Given the description of an element on the screen output the (x, y) to click on. 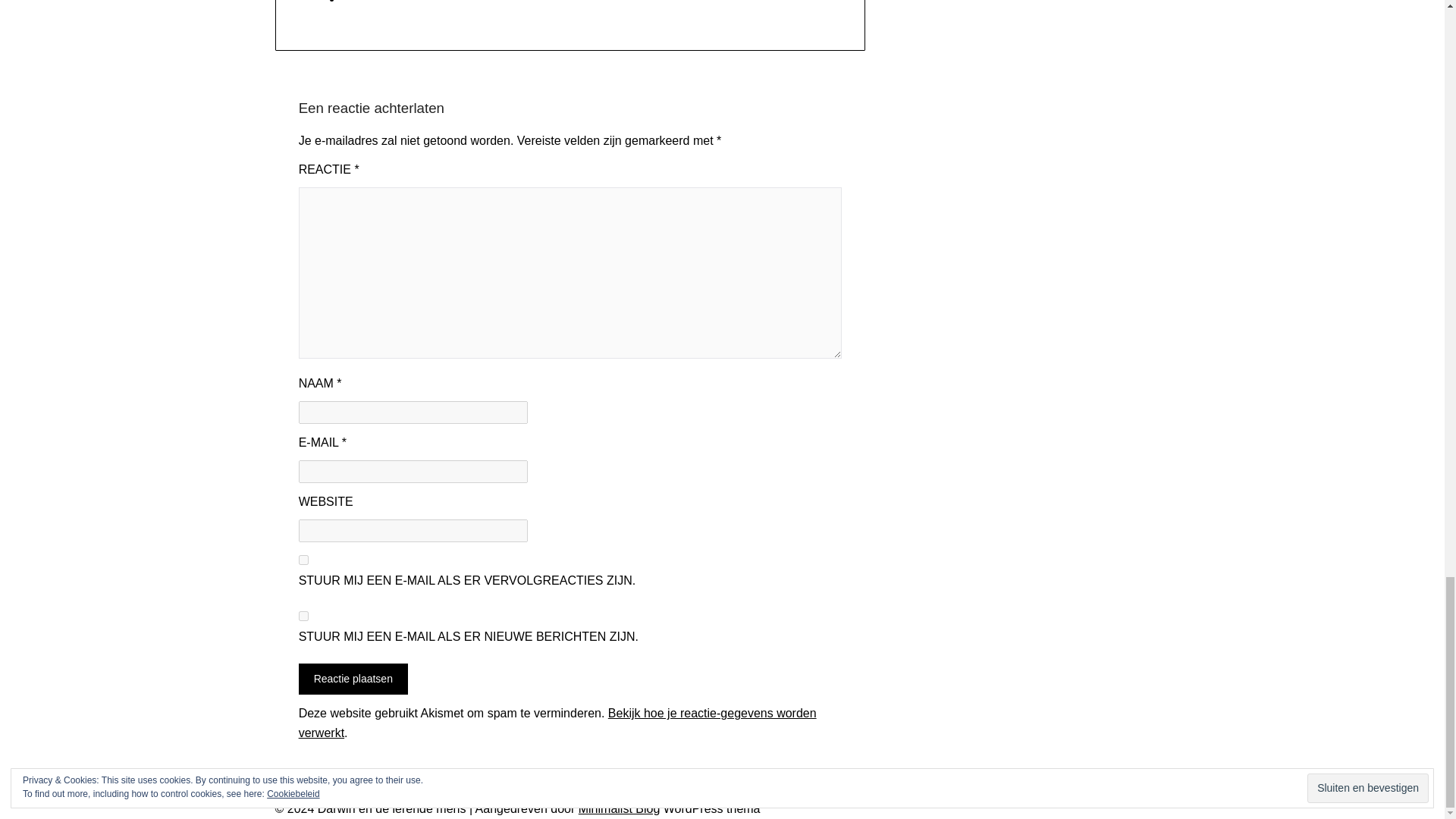
Bekijk hoe je reactie-gegevens worden verwerkt (557, 722)
Minimalist Blog (619, 808)
Reactie plaatsen (352, 678)
subscribe (303, 560)
subscribe (303, 615)
Reactie plaatsen (352, 678)
